Given the description of an element on the screen output the (x, y) to click on. 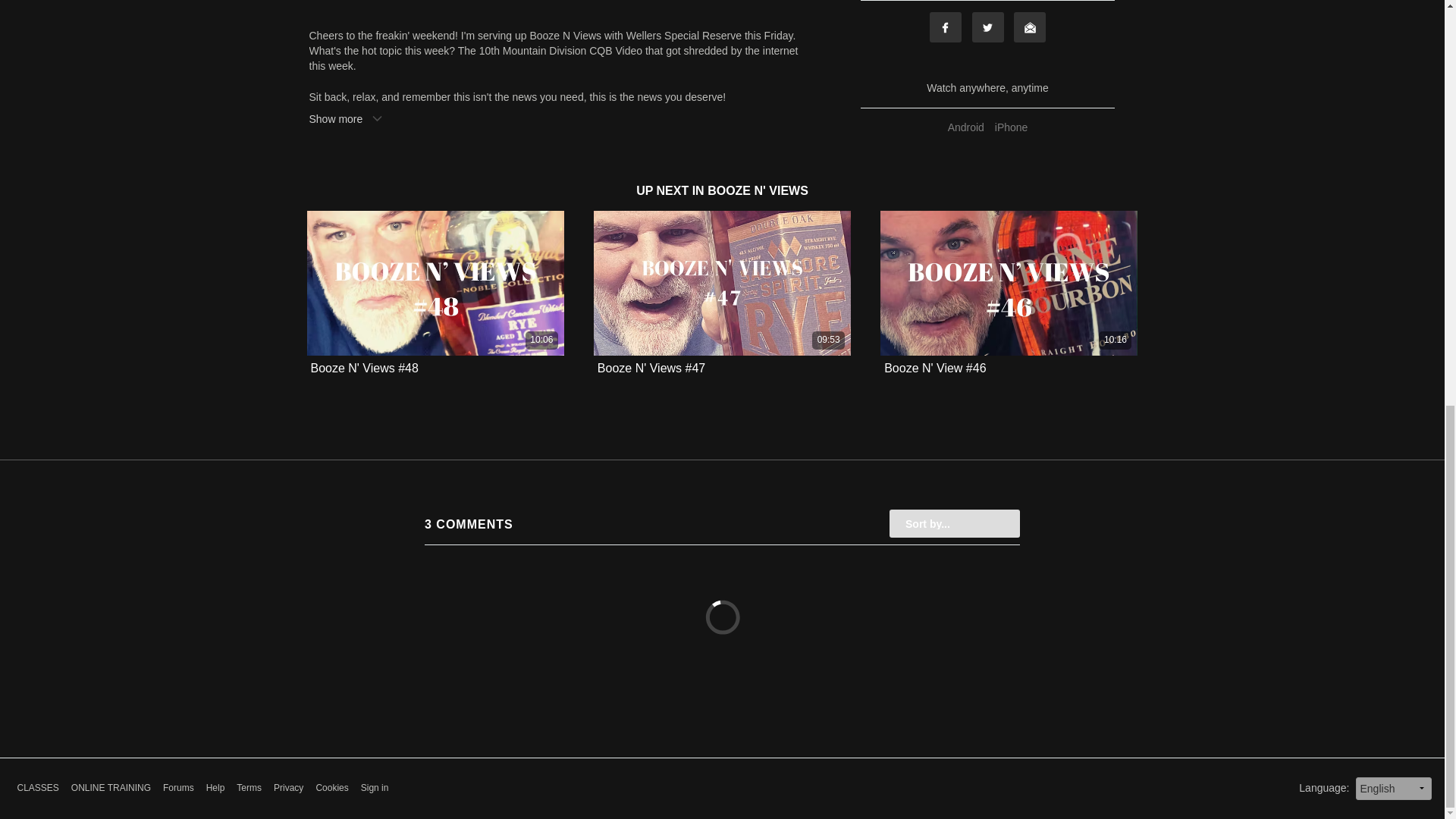
09:53 (722, 282)
Email (1029, 27)
Twitter (988, 27)
10:06 (434, 282)
Android (965, 127)
Facebook (945, 27)
iPhone (1011, 127)
10:16 (1008, 282)
BOOZE N' VIEWS (757, 190)
